Given the description of an element on the screen output the (x, y) to click on. 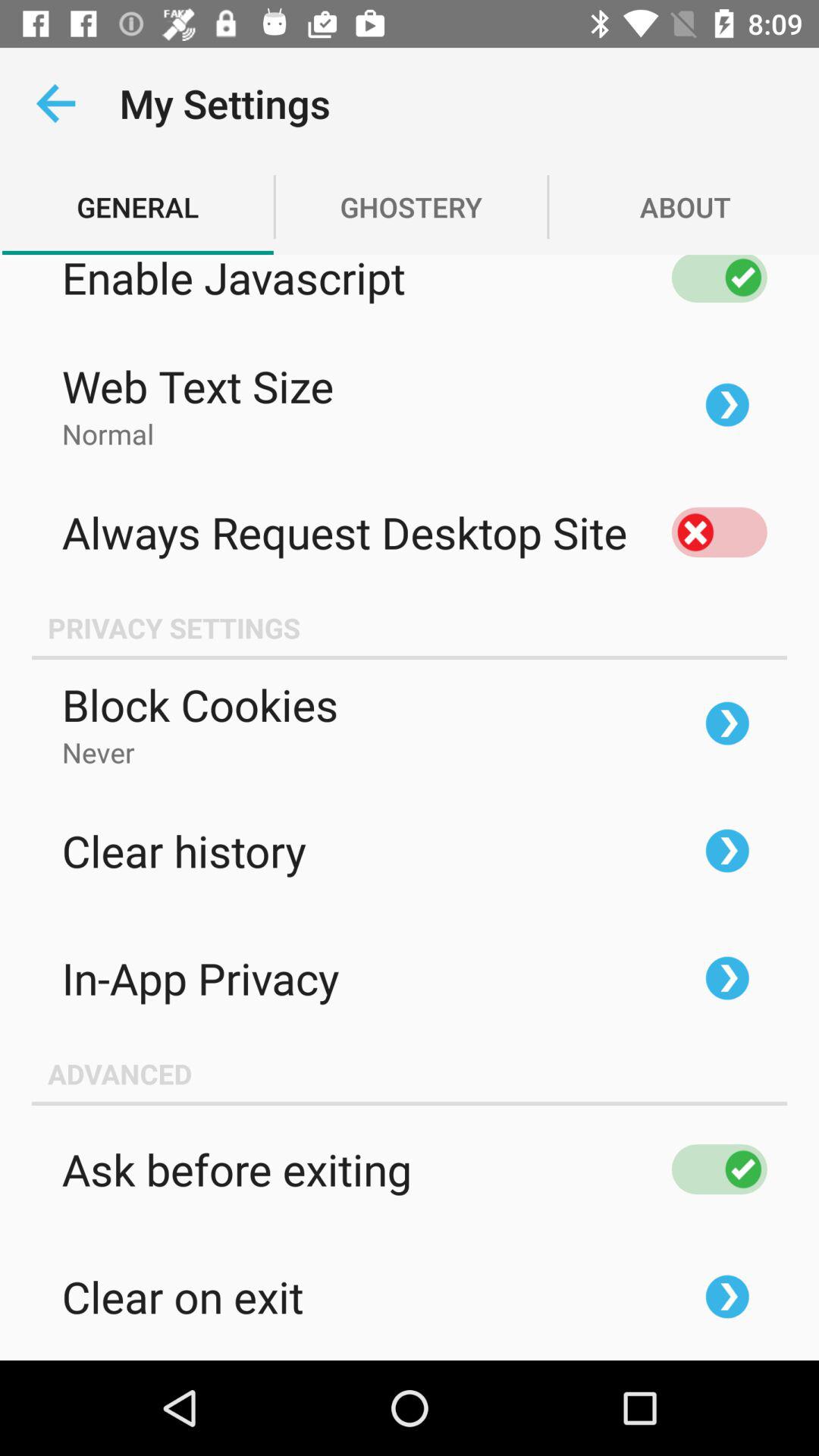
enable/disable javascript toggle (719, 278)
